Given the description of an element on the screen output the (x, y) to click on. 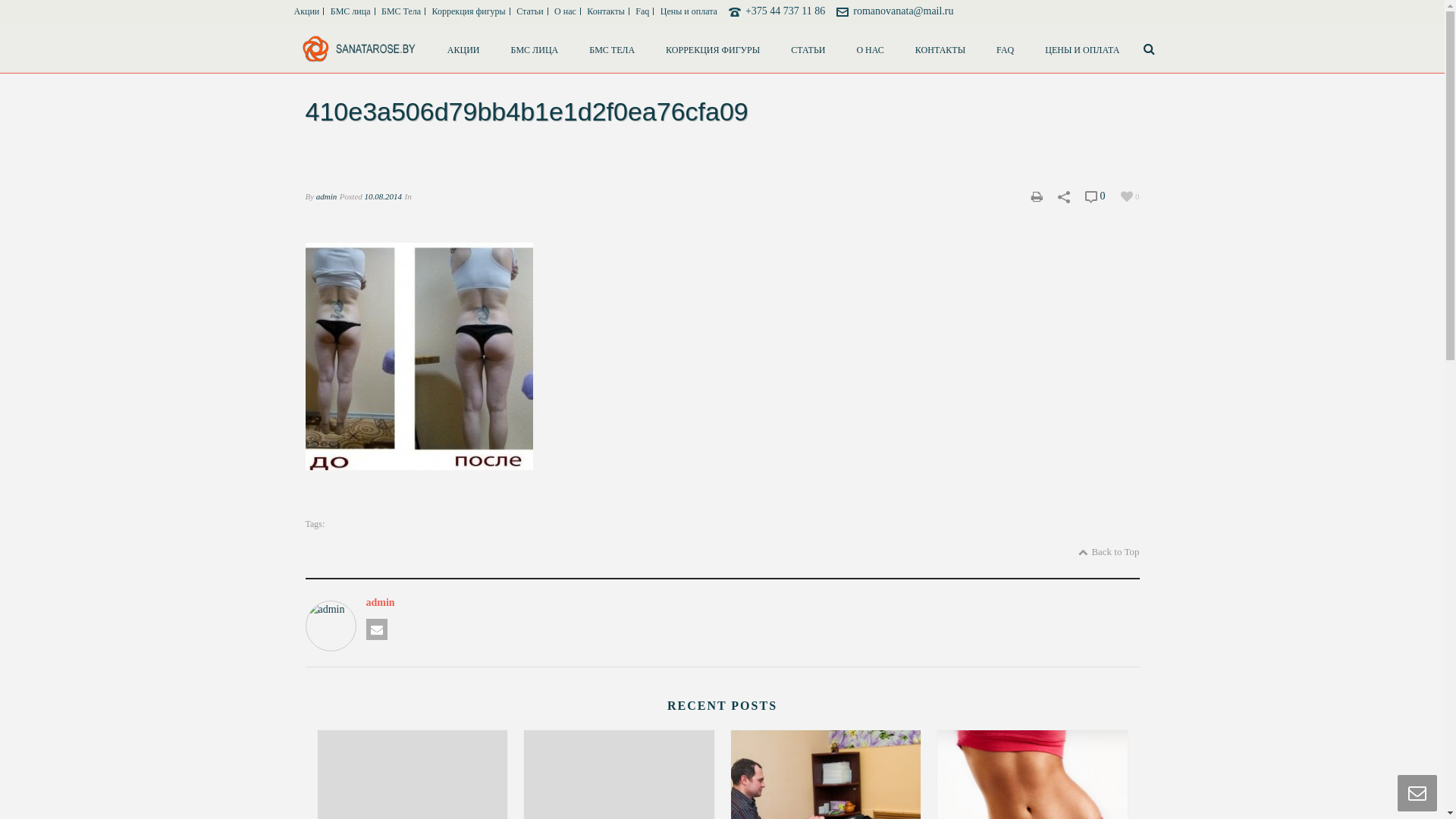
romanovanata@mail.ru Element type: text (903, 10)
admin Element type: text (326, 195)
Faq Element type: text (642, 11)
Print Element type: hover (1036, 196)
0 Element type: text (1095, 196)
Get in touch with me via email Element type: hover (375, 629)
0 Element type: text (1129, 195)
FAQ Element type: text (1005, 48)
10.08.2014 Element type: text (383, 195)
admin Element type: text (752, 602)
Sanata Rose Element type: hover (358, 48)
Back to Top Element type: text (1108, 551)
